Given the description of an element on the screen output the (x, y) to click on. 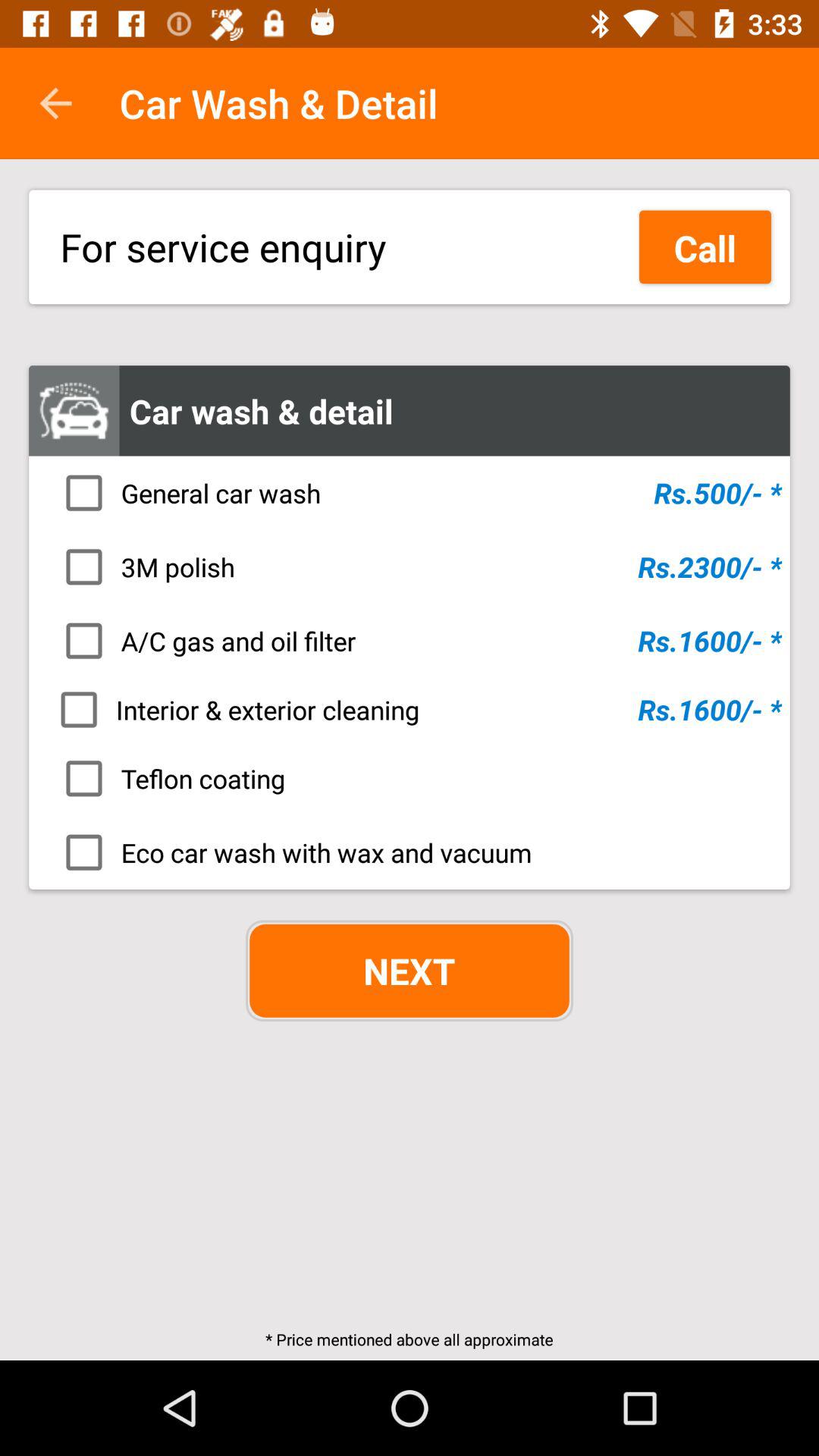
turn off item to the left of car wash & detail icon (55, 103)
